Given the description of an element on the screen output the (x, y) to click on. 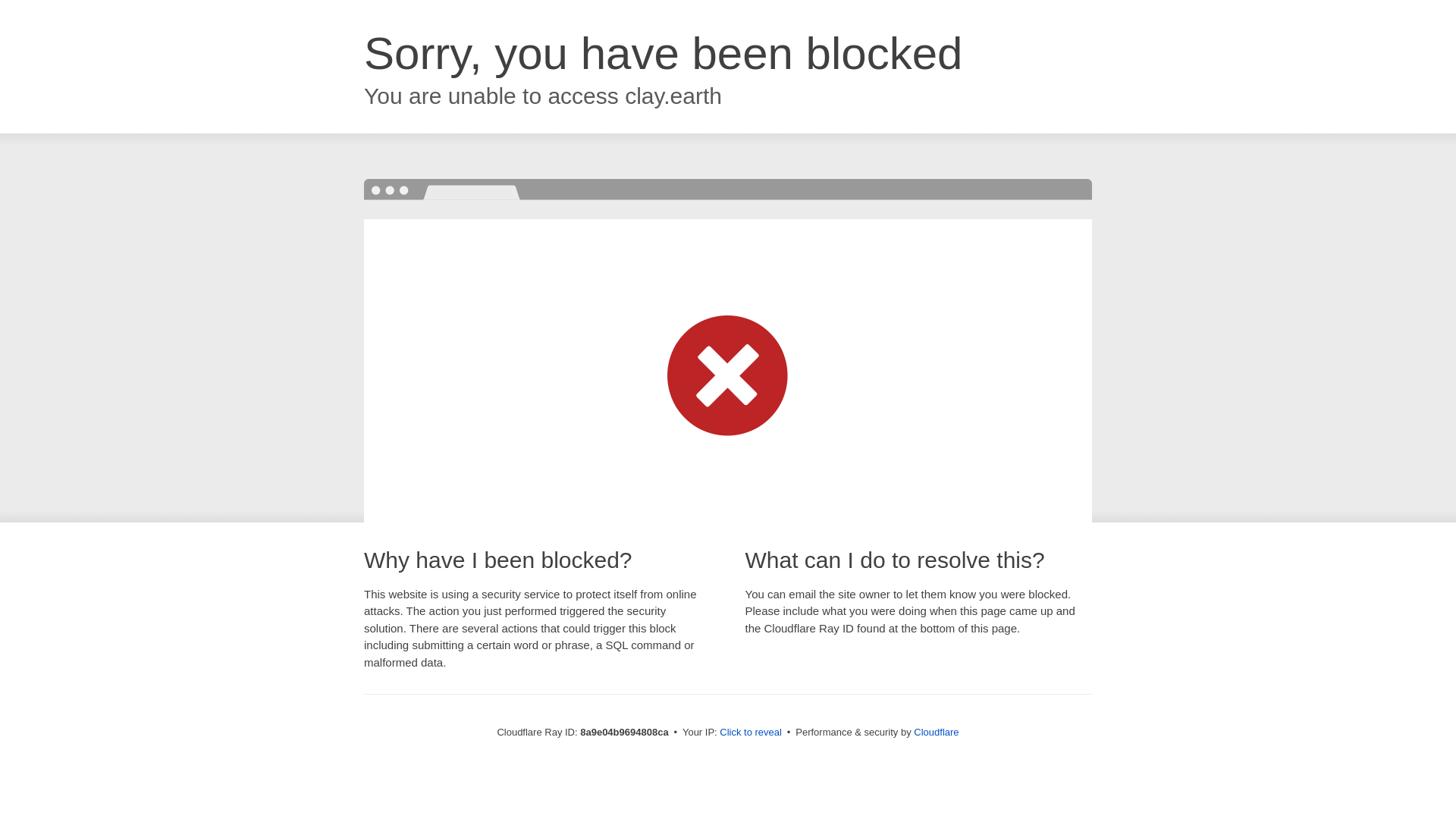
Click to reveal (750, 732)
Cloudflare (936, 731)
